Given the description of an element on the screen output the (x, y) to click on. 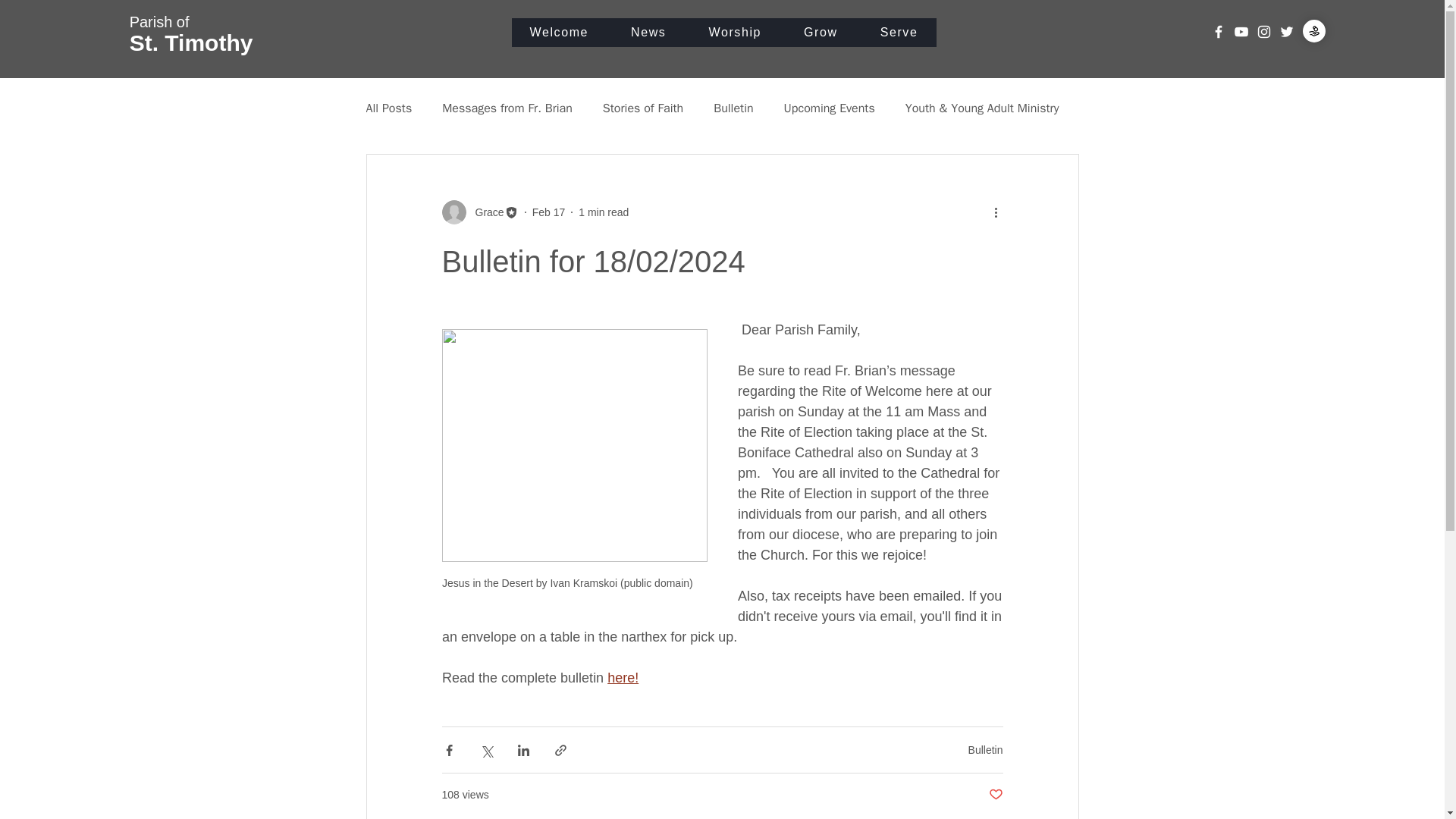
1 min read (603, 212)
Feb 17 (549, 212)
Messages from Fr. Brian (507, 107)
Stories of Faith (642, 107)
All Posts (388, 107)
Bulletin (732, 107)
Upcoming Events (191, 33)
here! (829, 107)
Grace (623, 677)
